Given the description of an element on the screen output the (x, y) to click on. 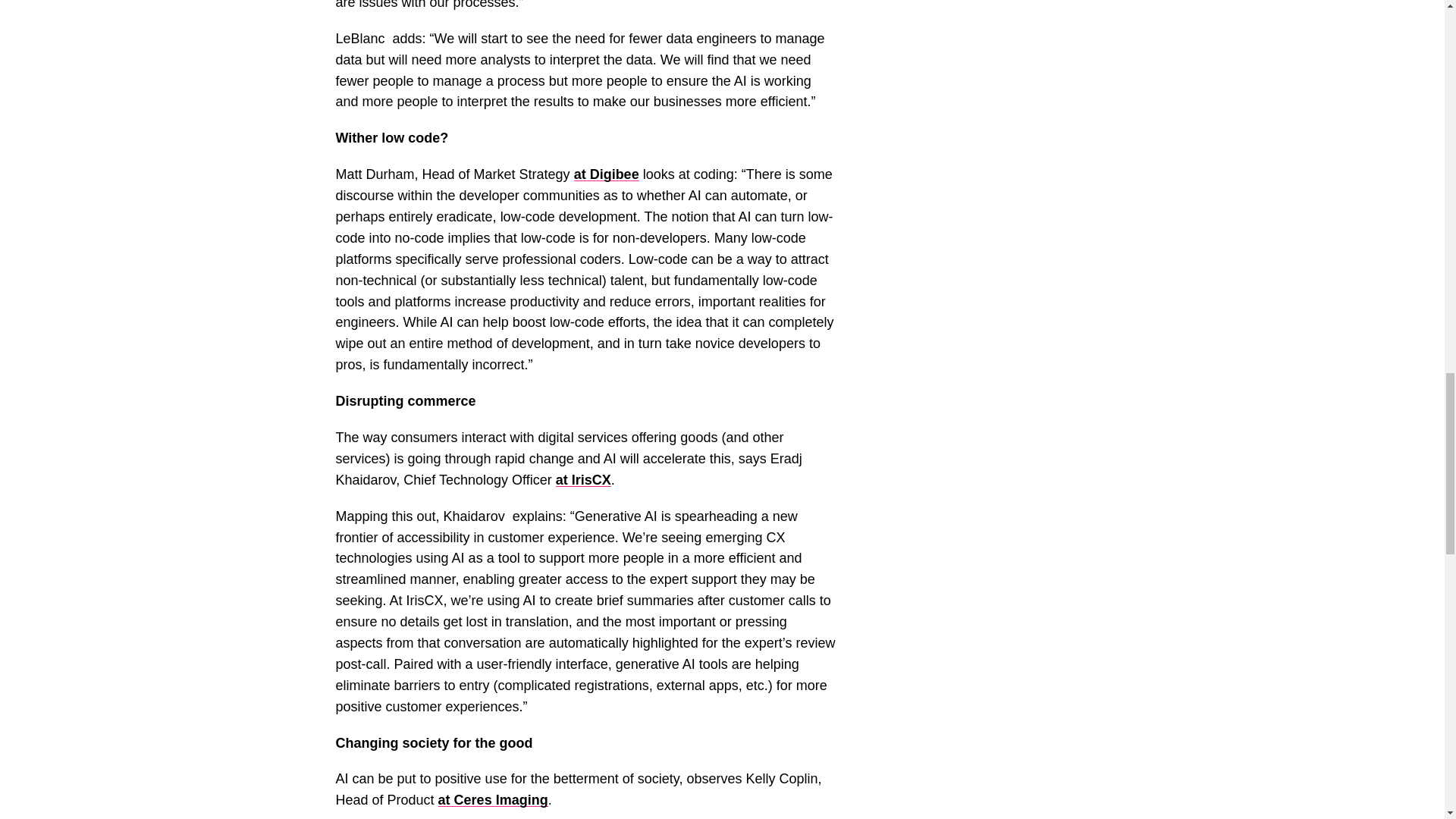
at Ceres Imaging (493, 799)
at IrisCX (583, 479)
at Digibee (606, 174)
